Given the description of an element on the screen output the (x, y) to click on. 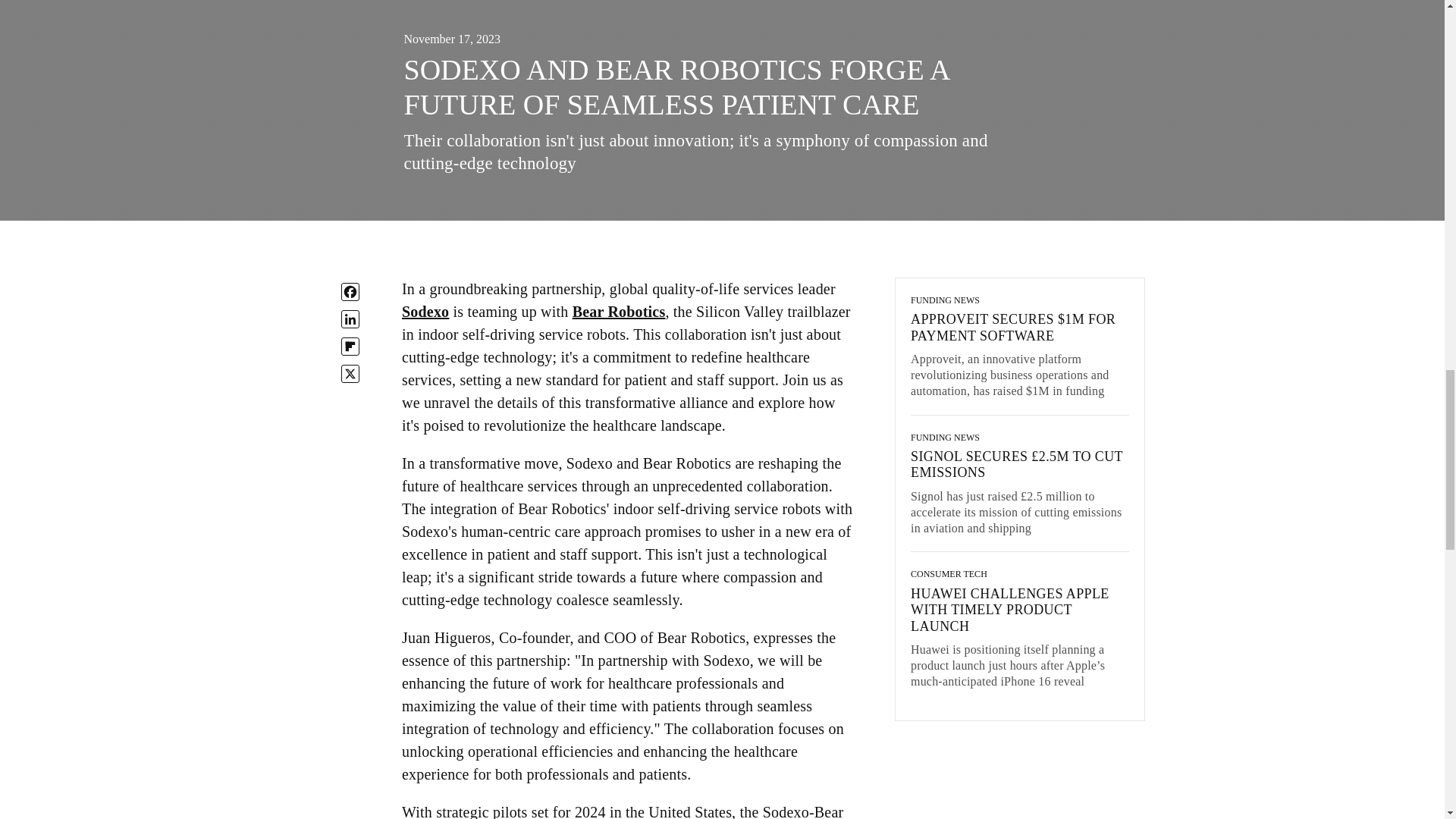
X (349, 373)
Linkedin (349, 319)
Flipboard (349, 346)
Facebook (349, 291)
